Given the description of an element on the screen output the (x, y) to click on. 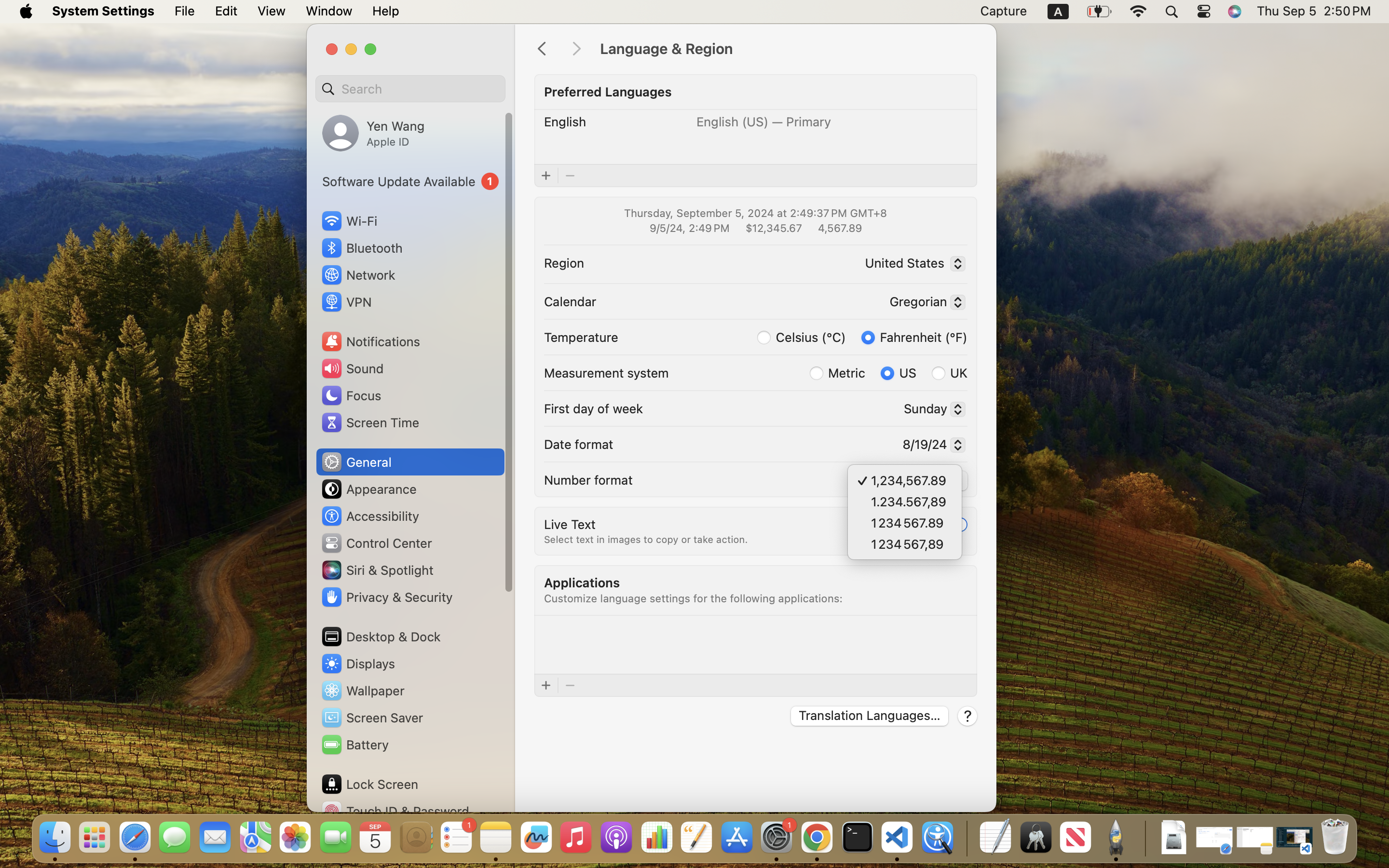
4,567.89 Element type: AXStaticText (839, 227)
Wallpaper Element type: AXStaticText (362, 690)
Control Center Element type: AXStaticText (376, 542)
Notifications Element type: AXStaticText (370, 340)
1 Element type: AXStaticText (410, 180)
